Given the description of an element on the screen output the (x, y) to click on. 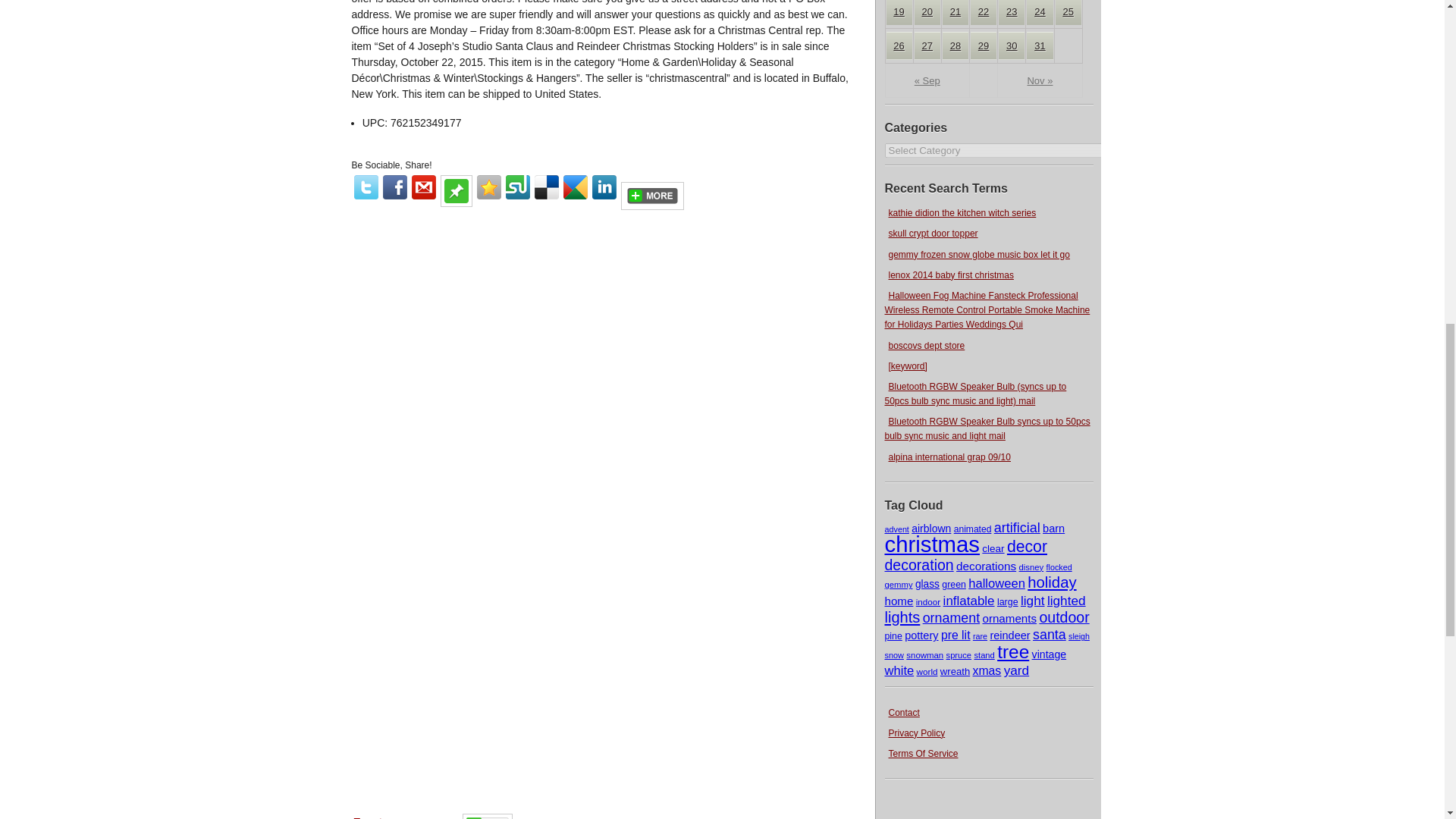
22 (983, 12)
20 (927, 12)
25 (1068, 12)
24 (1039, 12)
gemmy frozen snow globe music box let it go (978, 254)
View posts for September 2015 (926, 80)
29 (983, 45)
26 (898, 45)
kathie didion the kitchen witch series (961, 213)
skull crypt door topper (932, 233)
19 (898, 12)
27 (927, 45)
31 (1039, 45)
21 (955, 12)
28 (955, 45)
